Given the description of an element on the screen output the (x, y) to click on. 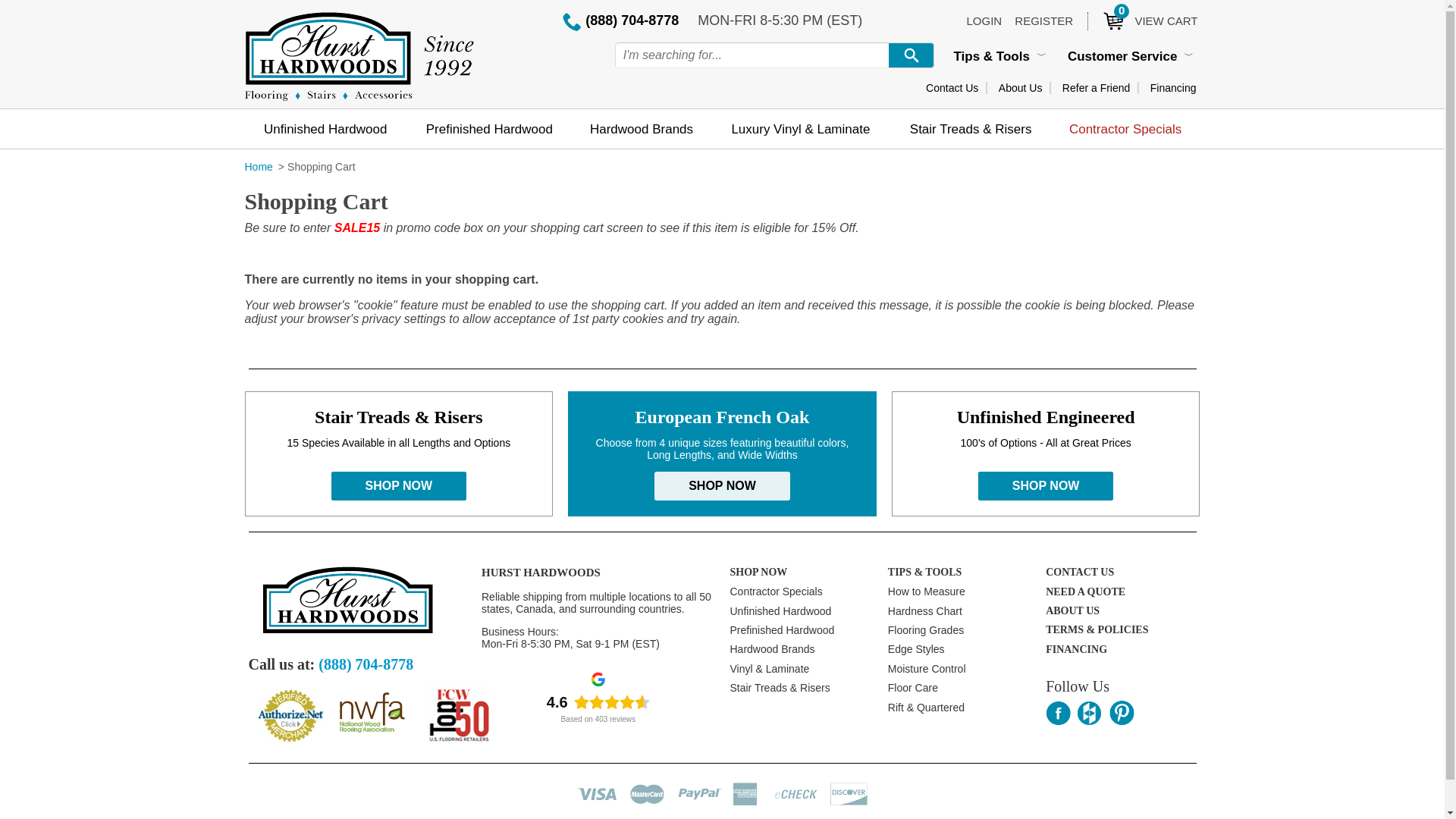
LOGIN (983, 20)
REGISTER (1043, 20)
About Us (1020, 87)
Contact Us (952, 87)
Refer a Friend (1095, 87)
Unfinished Hardwood (325, 128)
Financing (1173, 87)
